Given the description of an element on the screen output the (x, y) to click on. 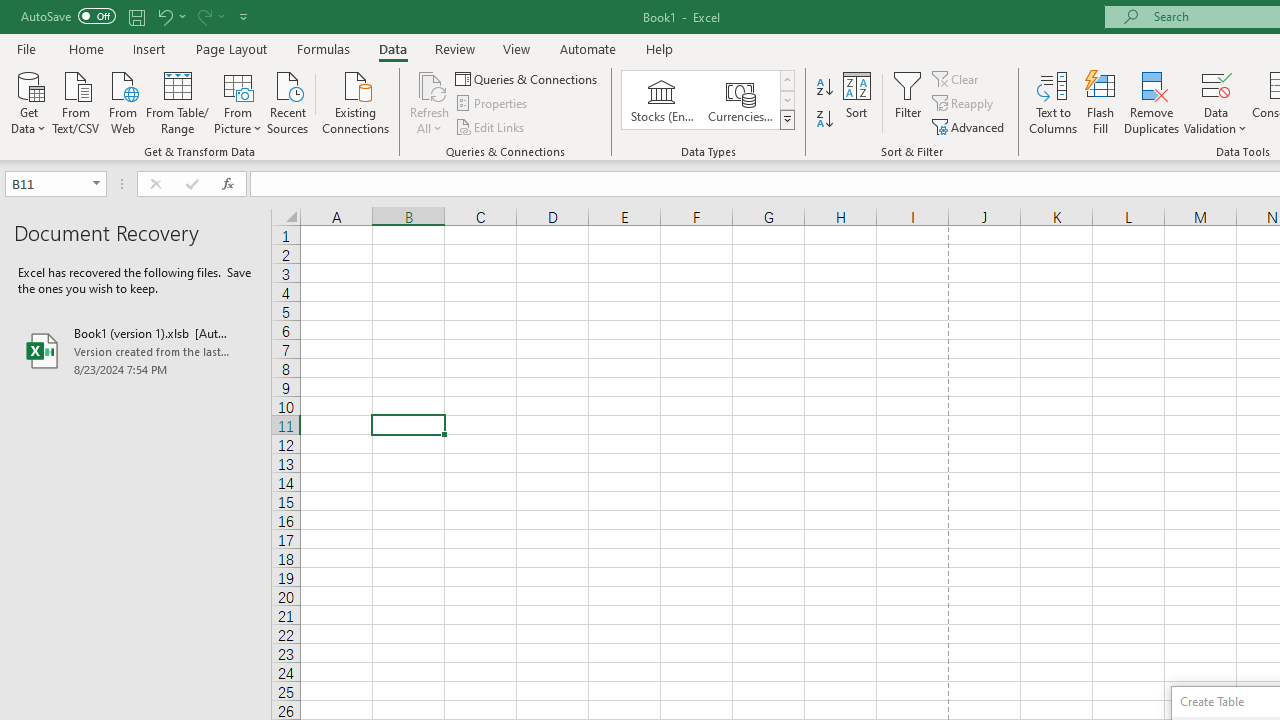
From Picture (238, 101)
From Web (122, 101)
Recent Sources (287, 101)
Get Data (28, 101)
Flash Fill (1101, 102)
Sort A to Z (824, 87)
Edit Links (491, 126)
AutomationID: ConvertToLinkedEntity (708, 99)
